Given the description of an element on the screen output the (x, y) to click on. 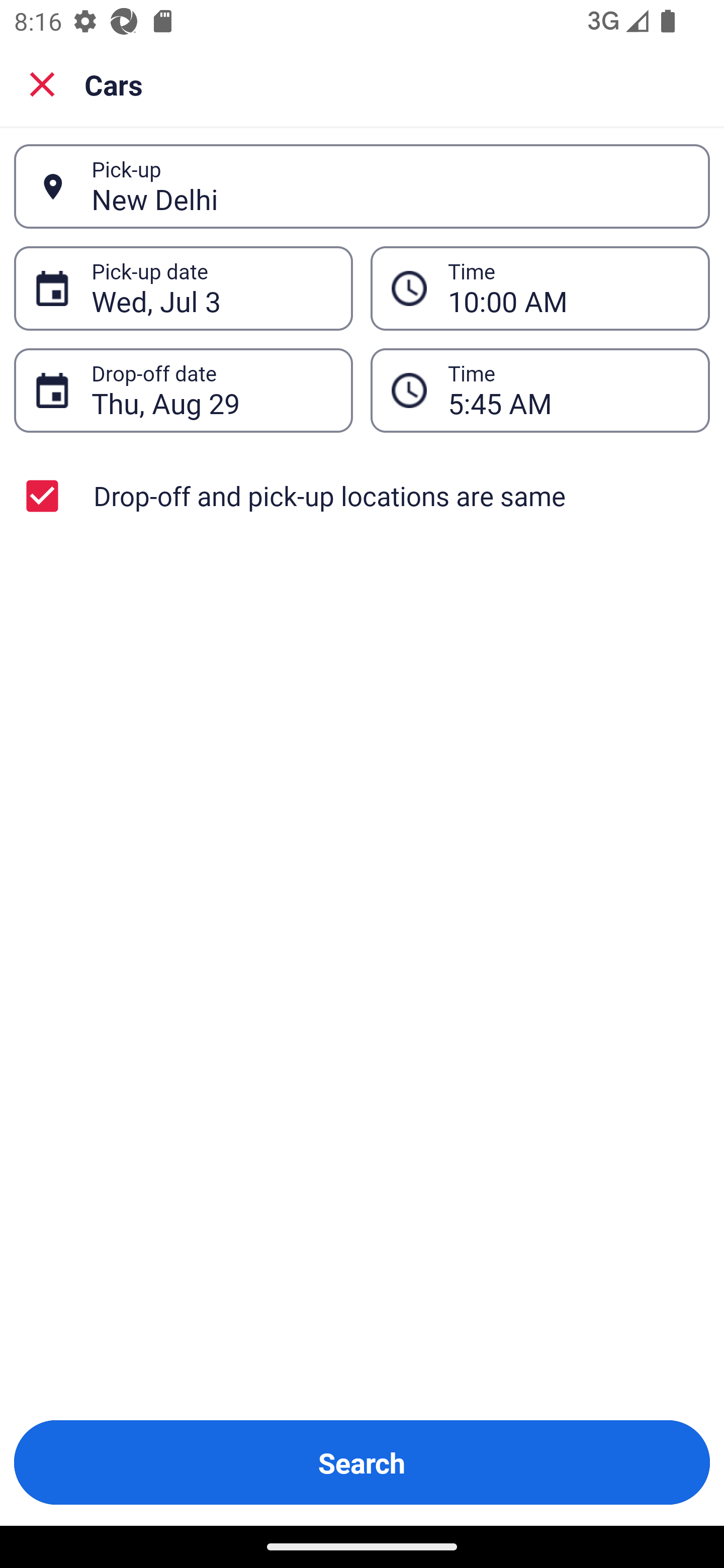
Close search screen (41, 83)
New Delhi Pick-up (361, 186)
New Delhi (389, 186)
Wed, Jul 3 Pick-up date (183, 288)
10:00 AM (540, 288)
Wed, Jul 3 (211, 288)
10:00 AM (568, 288)
Thu, Aug 29 Drop-off date (183, 390)
5:45 AM (540, 390)
Thu, Aug 29 (211, 390)
5:45 AM (568, 390)
Drop-off and pick-up locations are same (361, 495)
Search Button Search (361, 1462)
